Given the description of an element on the screen output the (x, y) to click on. 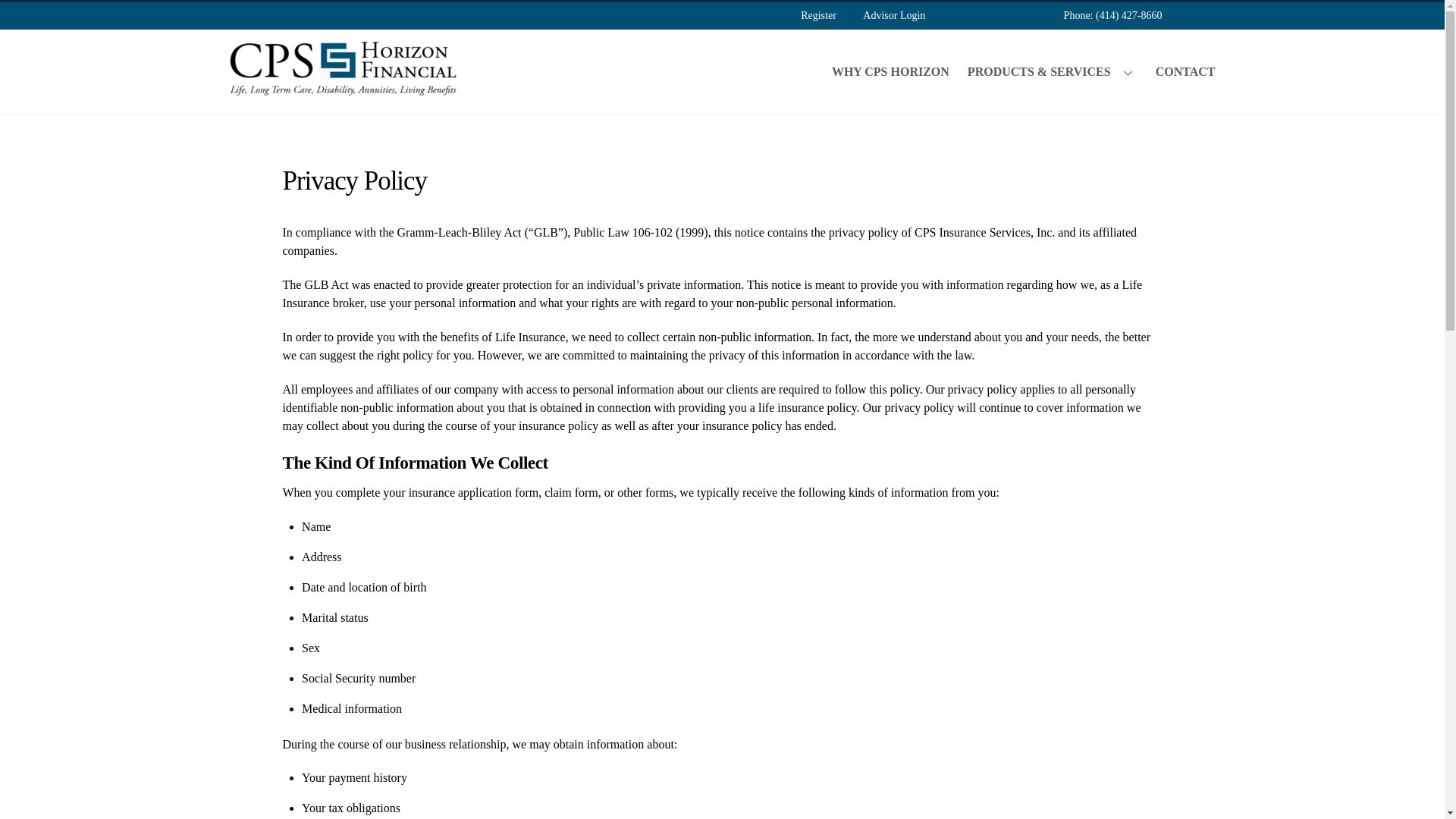
Register (818, 15)
Horizon Financial Group (342, 88)
Register Advisor Login (863, 15)
Advisor Login (894, 15)
CONTACT (1181, 71)
WHY CPS HORIZON (890, 71)
